Given the description of an element on the screen output the (x, y) to click on. 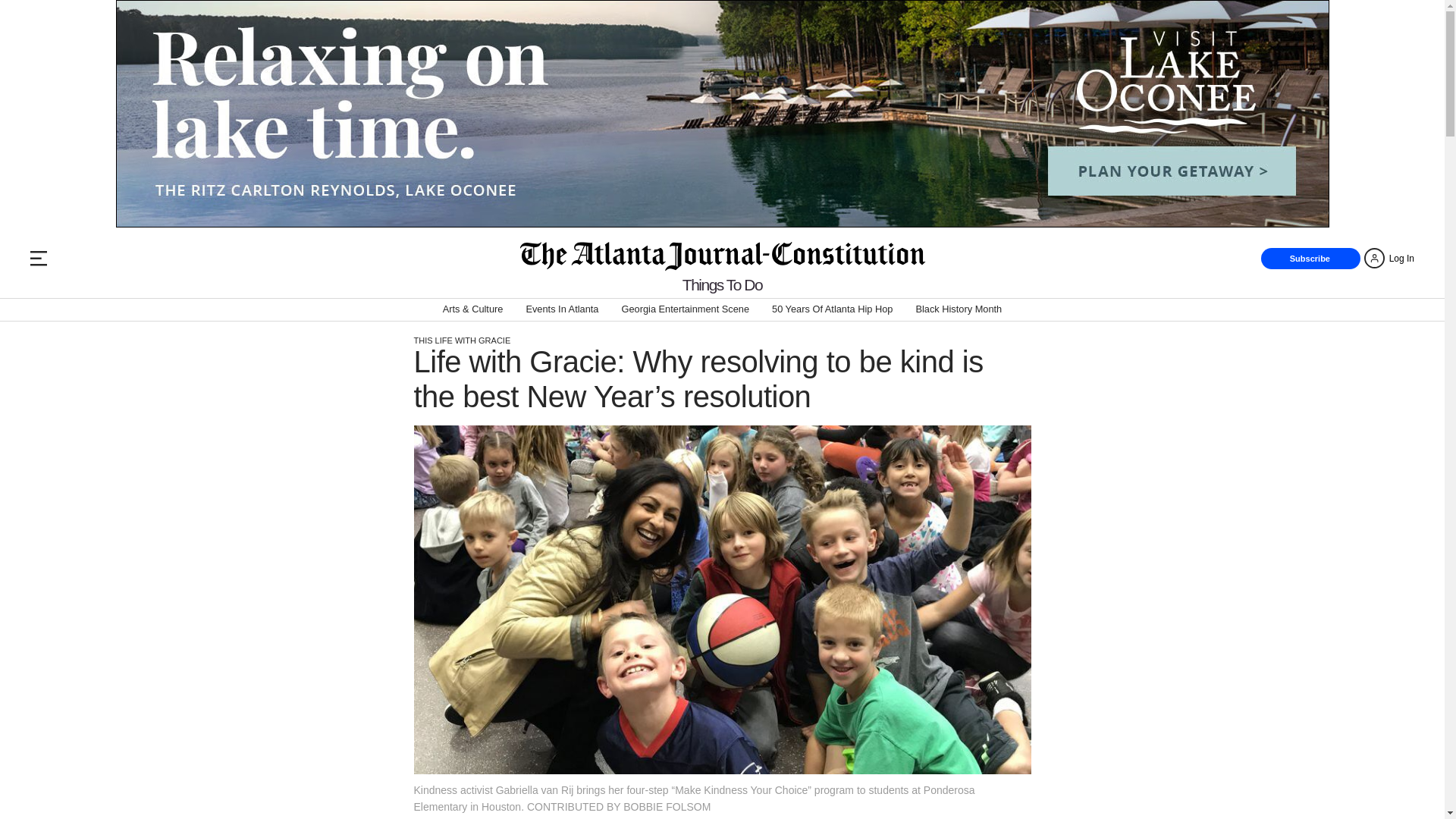
Events In Atlanta (561, 309)
Georgia Entertainment Scene (685, 309)
Black History Month (958, 309)
50 Years Of Atlanta Hip Hop (831, 309)
Things To Do (721, 284)
